Given the description of an element on the screen output the (x, y) to click on. 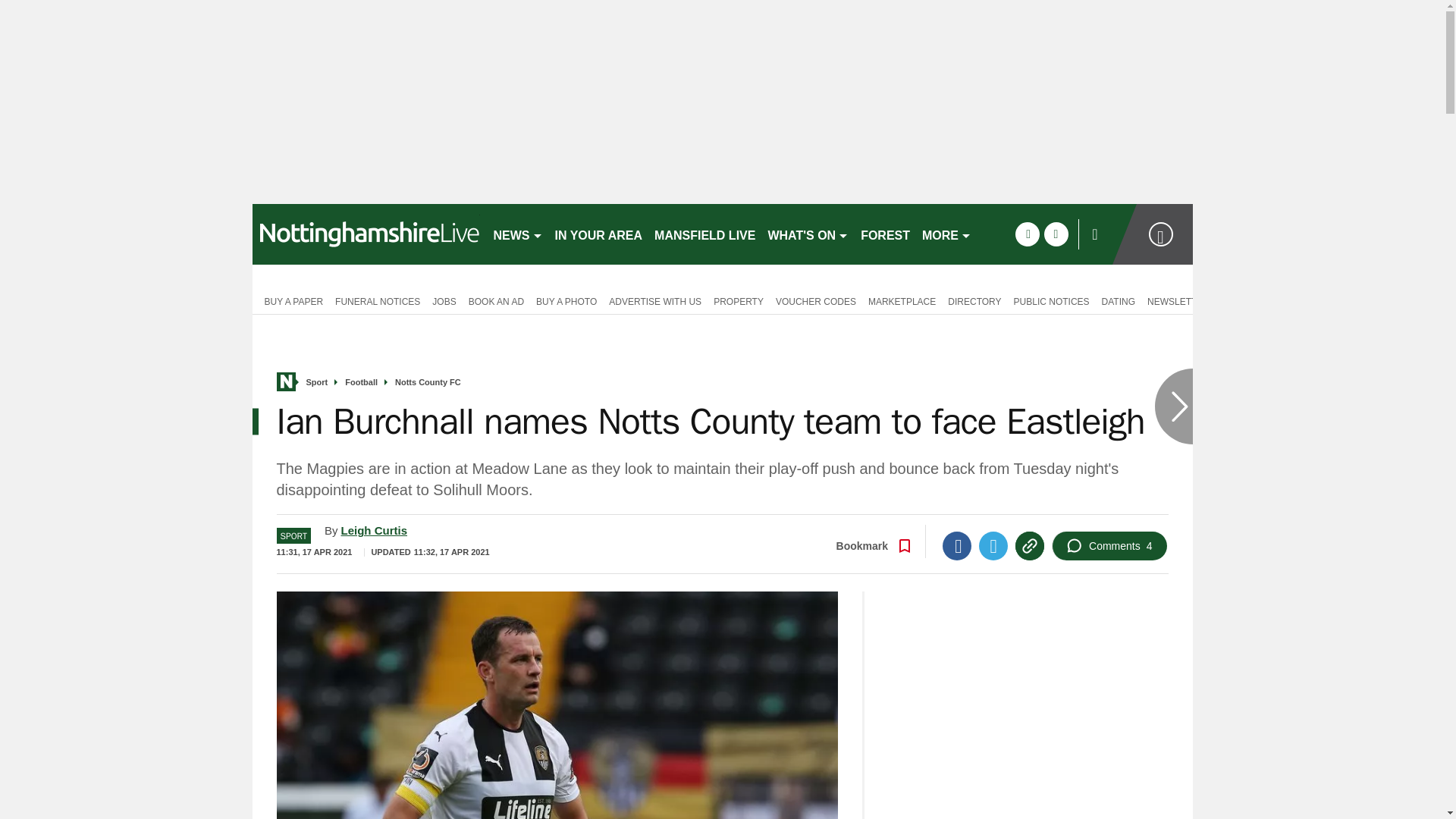
facebook (1026, 233)
twitter (1055, 233)
IN YOUR AREA (598, 233)
Facebook (956, 545)
nottinghampost (365, 233)
Twitter (992, 545)
MANSFIELD LIVE (704, 233)
NEWS (517, 233)
Comments (1108, 545)
WHAT'S ON (807, 233)
